Given the description of an element on the screen output the (x, y) to click on. 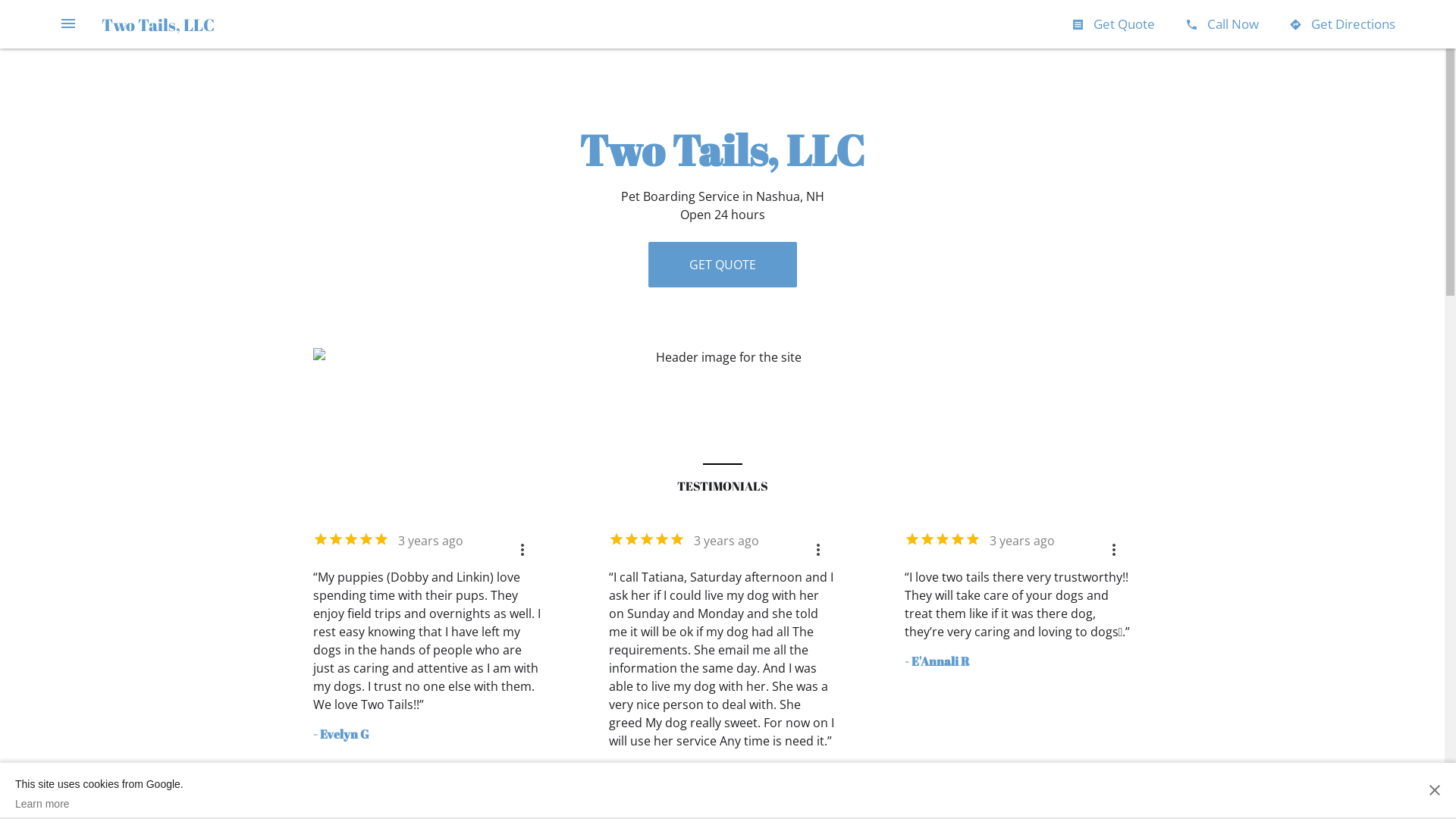
GET QUOTE Element type: text (721, 264)
Learn more Element type: text (99, 803)
Two Tails, LLC Element type: text (157, 24)
